Given the description of an element on the screen output the (x, y) to click on. 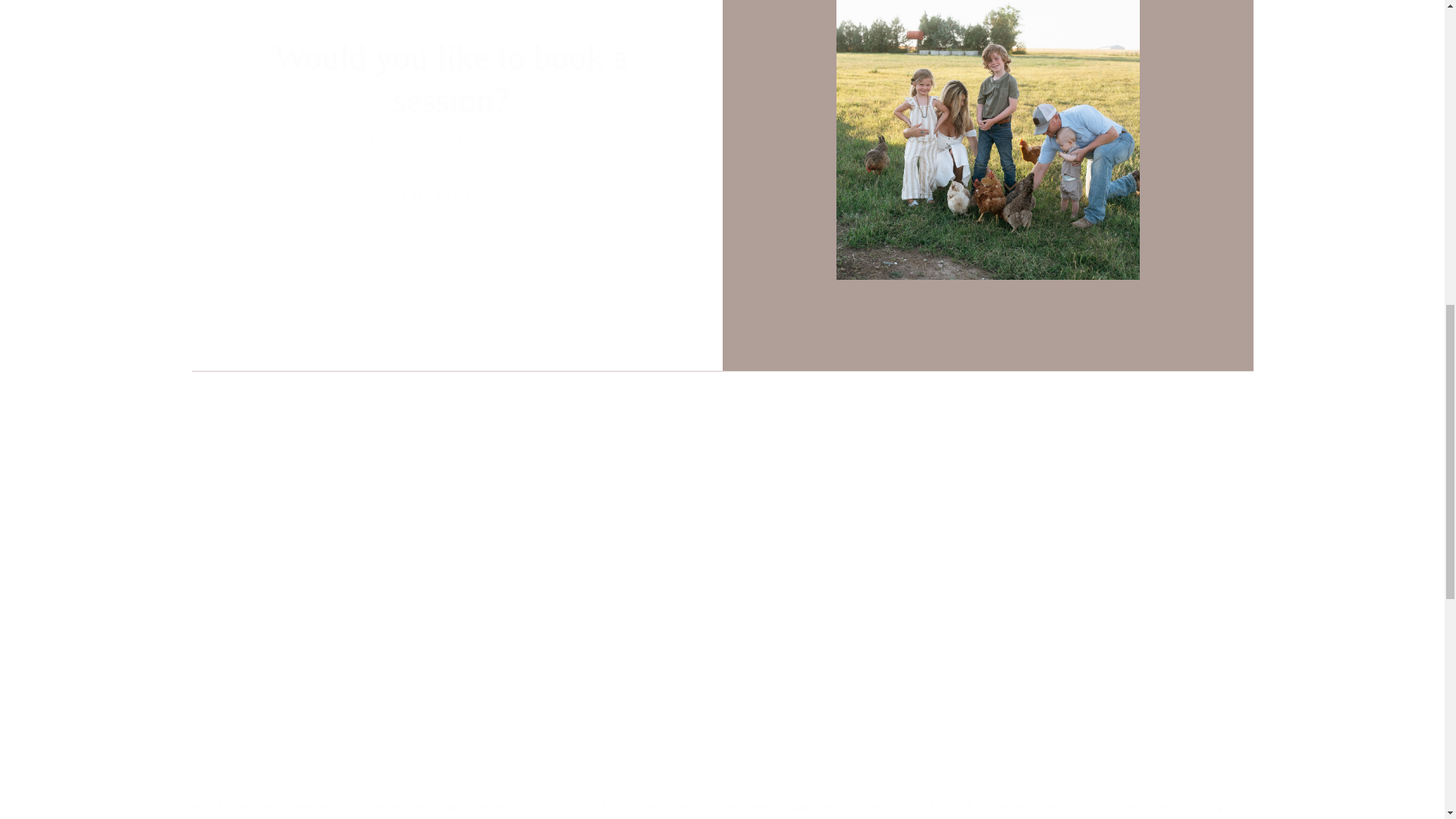
CONTACT US (444, 196)
View Our Videos (339, 753)
Preview a Family Session (1083, 753)
Preview a Wedding Gallery (709, 753)
